Given the description of an element on the screen output the (x, y) to click on. 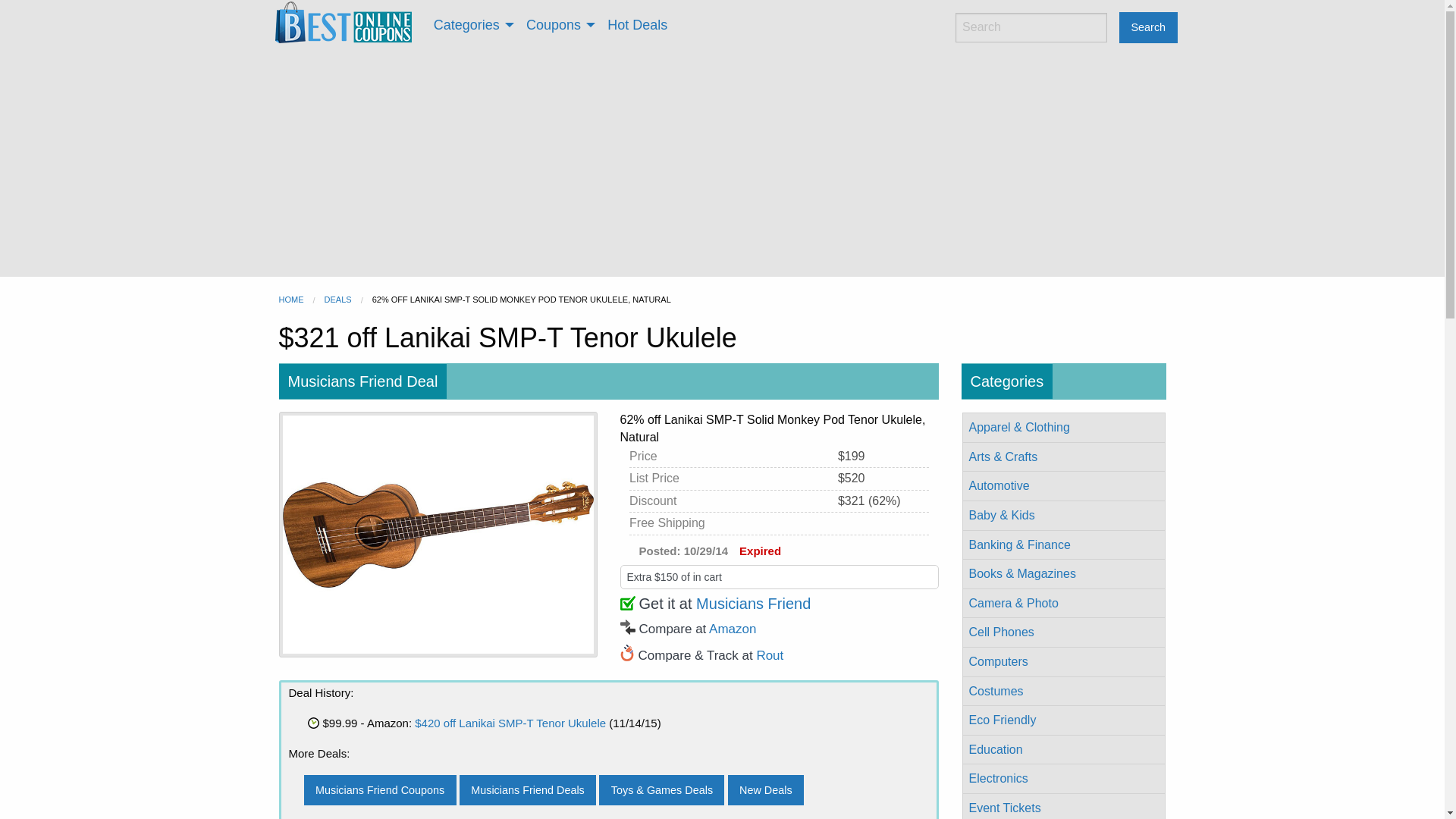
Coupons (558, 24)
Categories (470, 24)
